Given the description of an element on the screen output the (x, y) to click on. 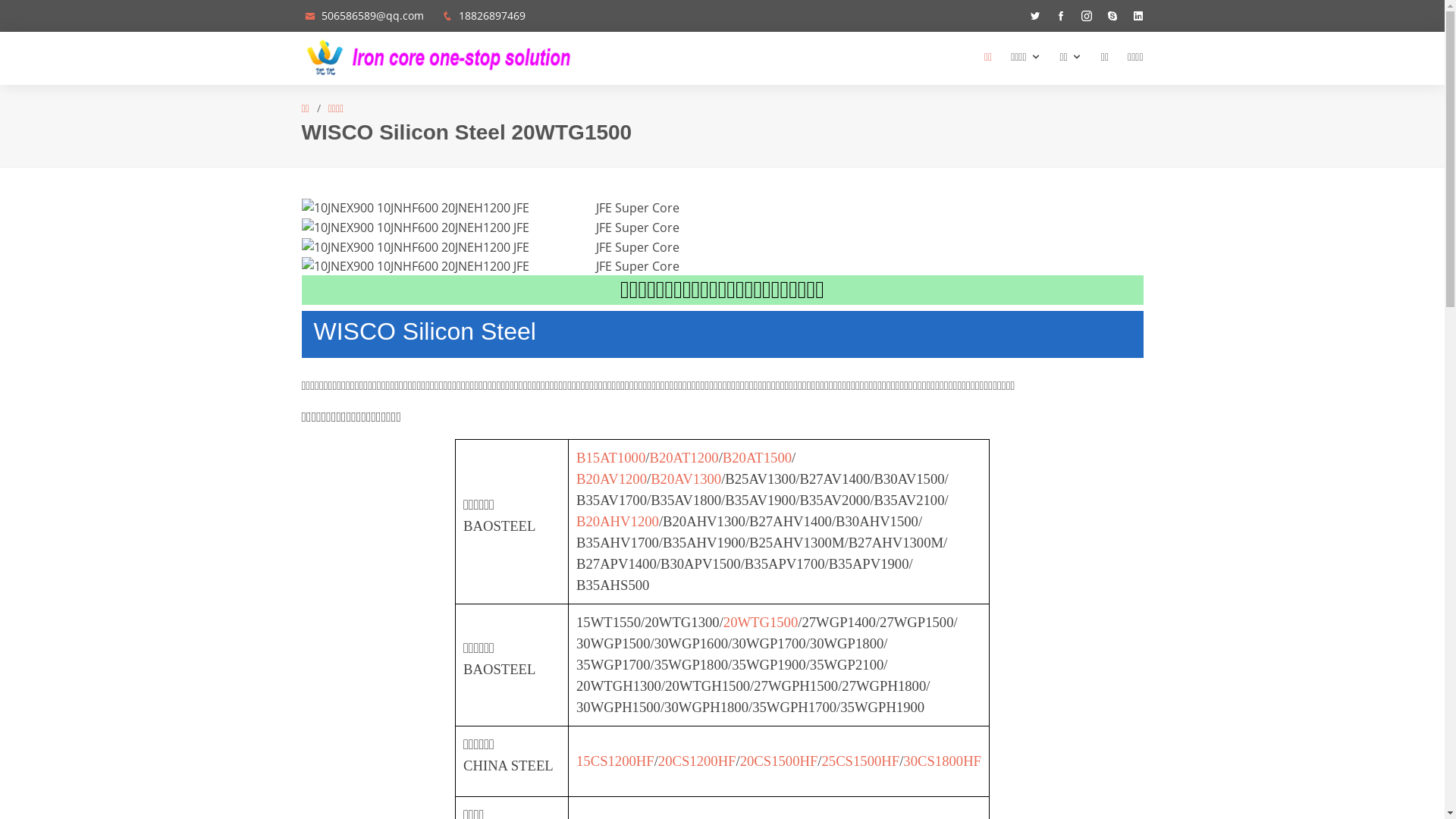
B15AT1000 Element type: text (610, 457)
20CS1200HF Element type: text (697, 760)
20CS1500HF Element type: text (779, 760)
B20AT1200 Element type: text (683, 457)
B20AV1300 Element type: text (685, 478)
15CS1200HF Element type: text (615, 760)
B20AV1200 Element type: text (611, 478)
25CS1500HF Element type: text (861, 760)
B20AT1500 Element type: text (756, 457)
B20AHV1200 Element type: text (617, 521)
20WTG1500 Element type: text (760, 622)
30CS1800HF Element type: text (942, 760)
